Given the description of an element on the screen output the (x, y) to click on. 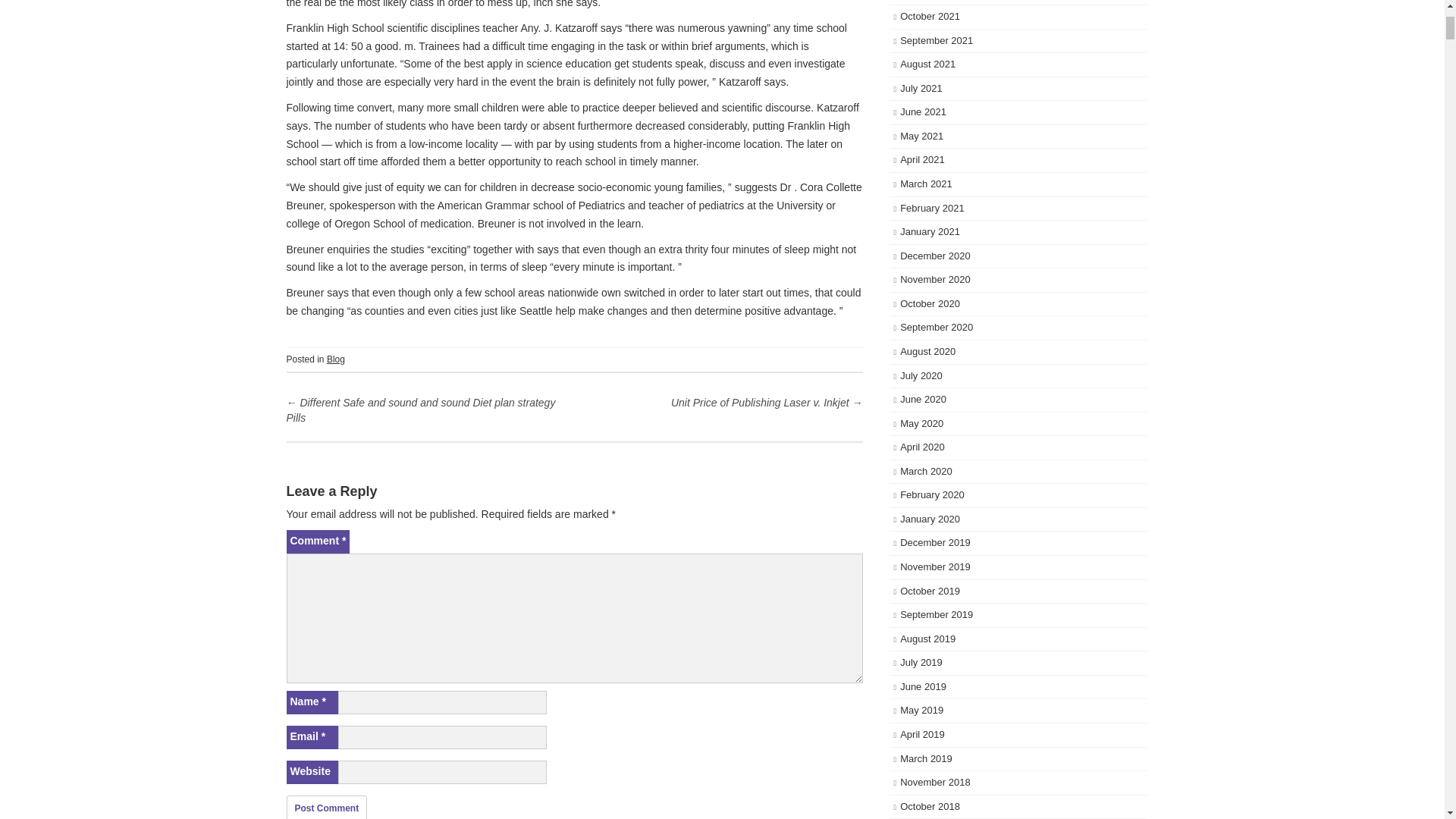
Blog (335, 358)
Post Comment (327, 807)
